Given the description of an element on the screen output the (x, y) to click on. 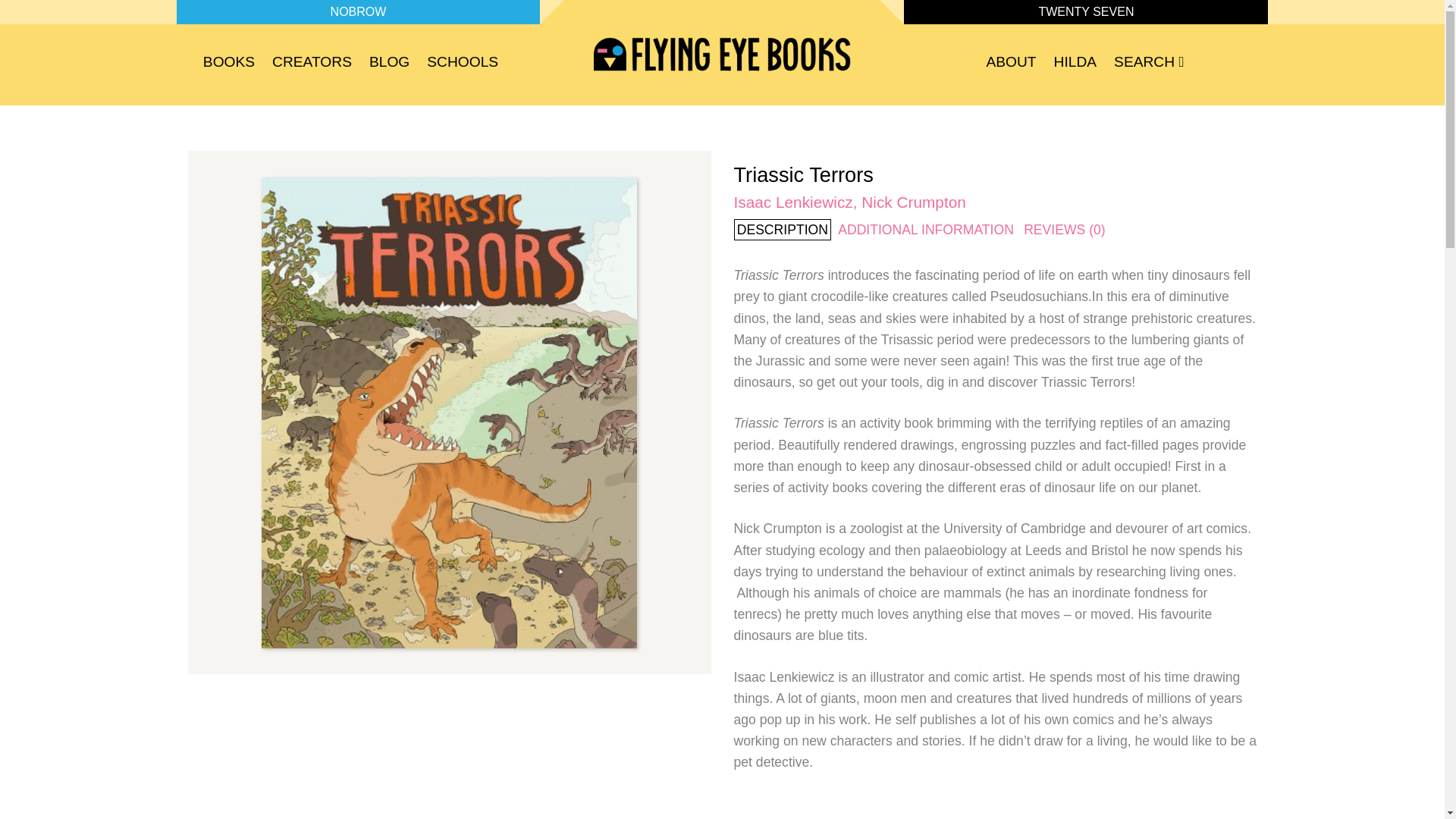
TWENTY SEVEN (1086, 11)
CREATORS (312, 65)
ADDITIONAL INFORMATION (925, 229)
DESCRIPTION (782, 229)
Isaac Lenkiewicz (793, 201)
Nick Crumpton (913, 201)
NOBROW (358, 11)
